Given the description of an element on the screen output the (x, y) to click on. 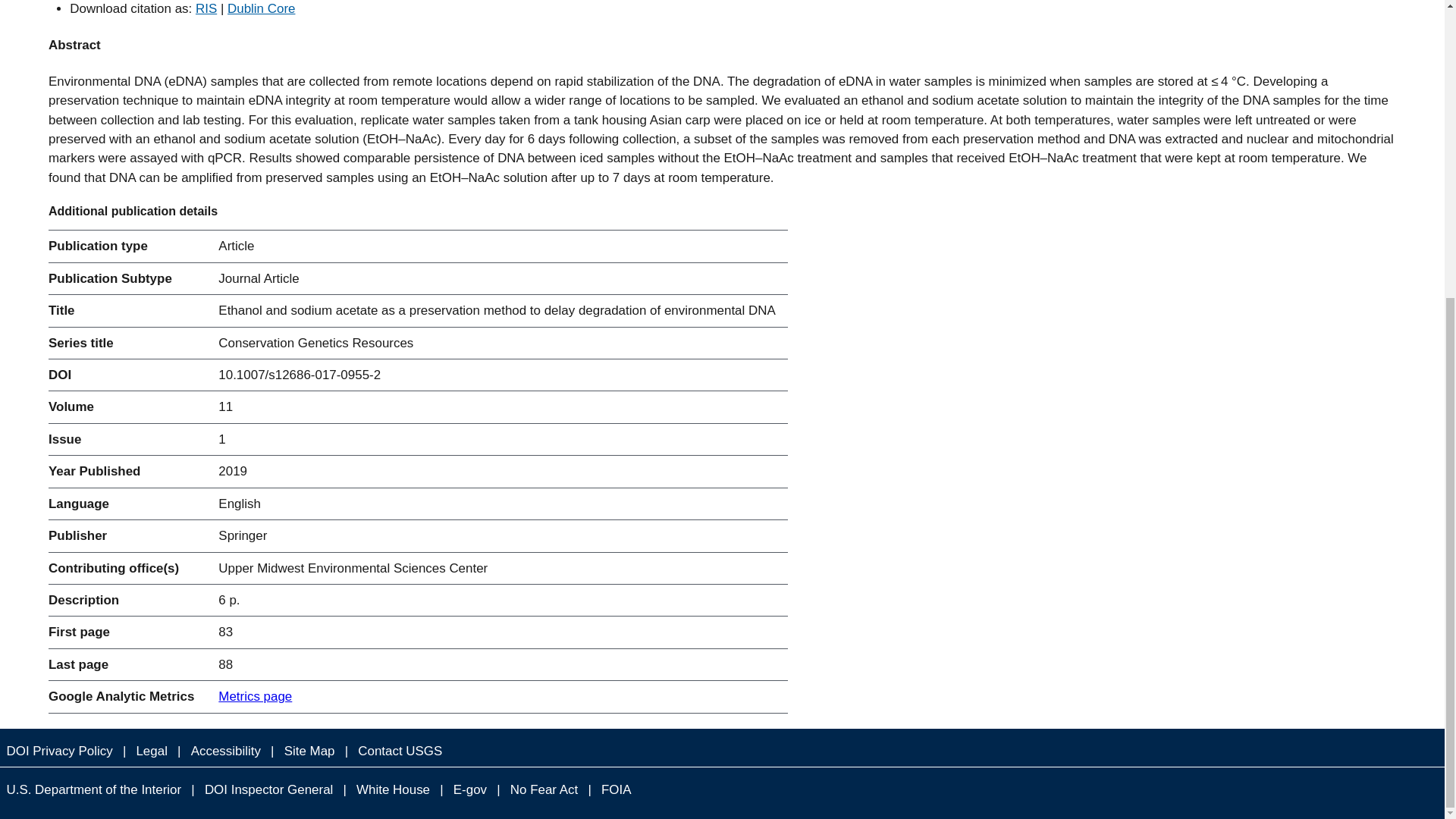
Accessibility (225, 751)
E-gov (469, 789)
Contact USGS (400, 751)
DOI Inspector General (268, 789)
No Fear Act (543, 789)
RIS (205, 8)
U.S. Department of the Interior (93, 789)
White House (393, 789)
Metrics page (255, 696)
DOI Privacy Policy (59, 751)
